Given the description of an element on the screen output the (x, y) to click on. 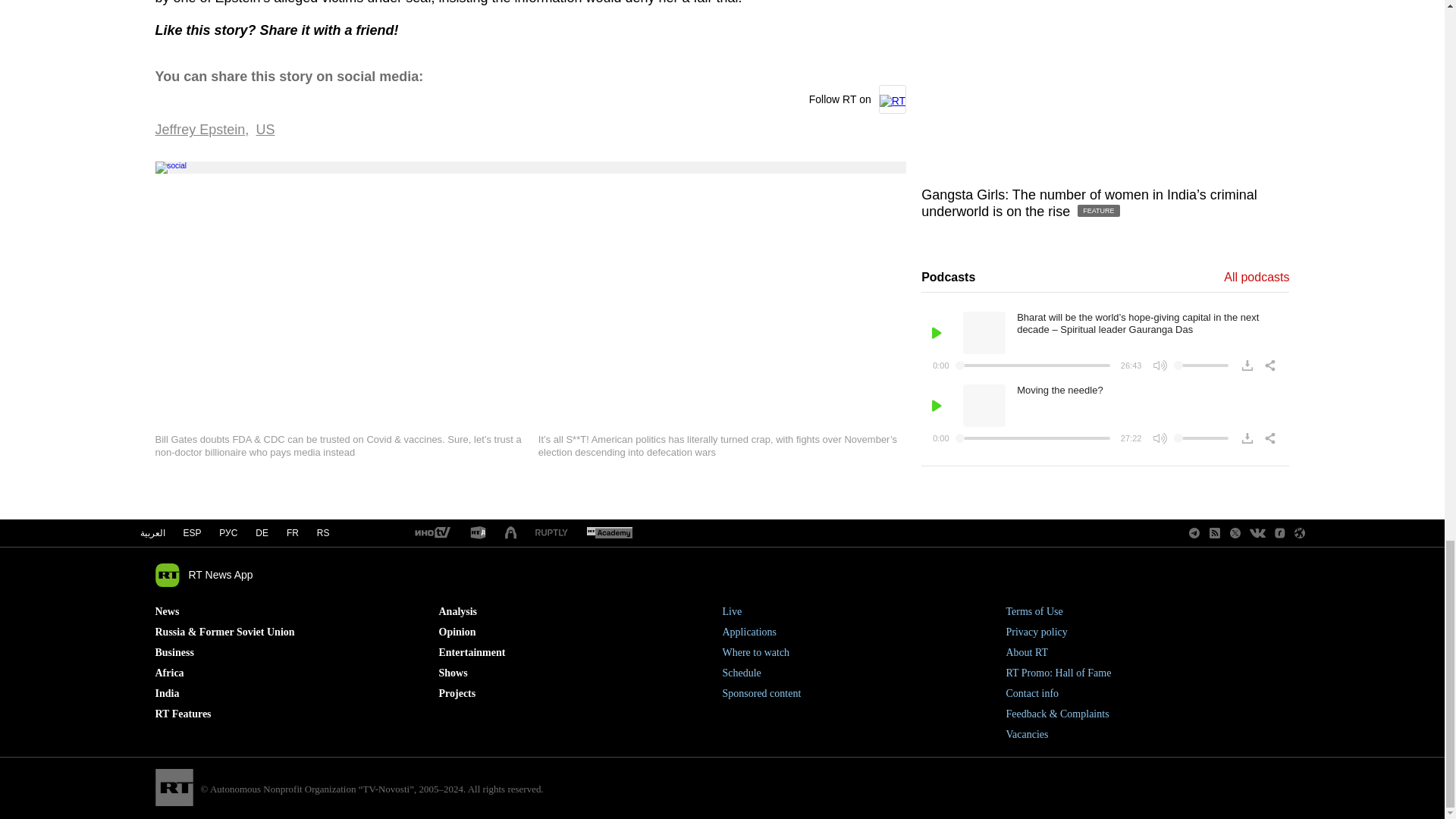
RT  (551, 533)
RT  (478, 533)
RT  (431, 533)
RT  (608, 533)
